Given the description of an element on the screen output the (x, y) to click on. 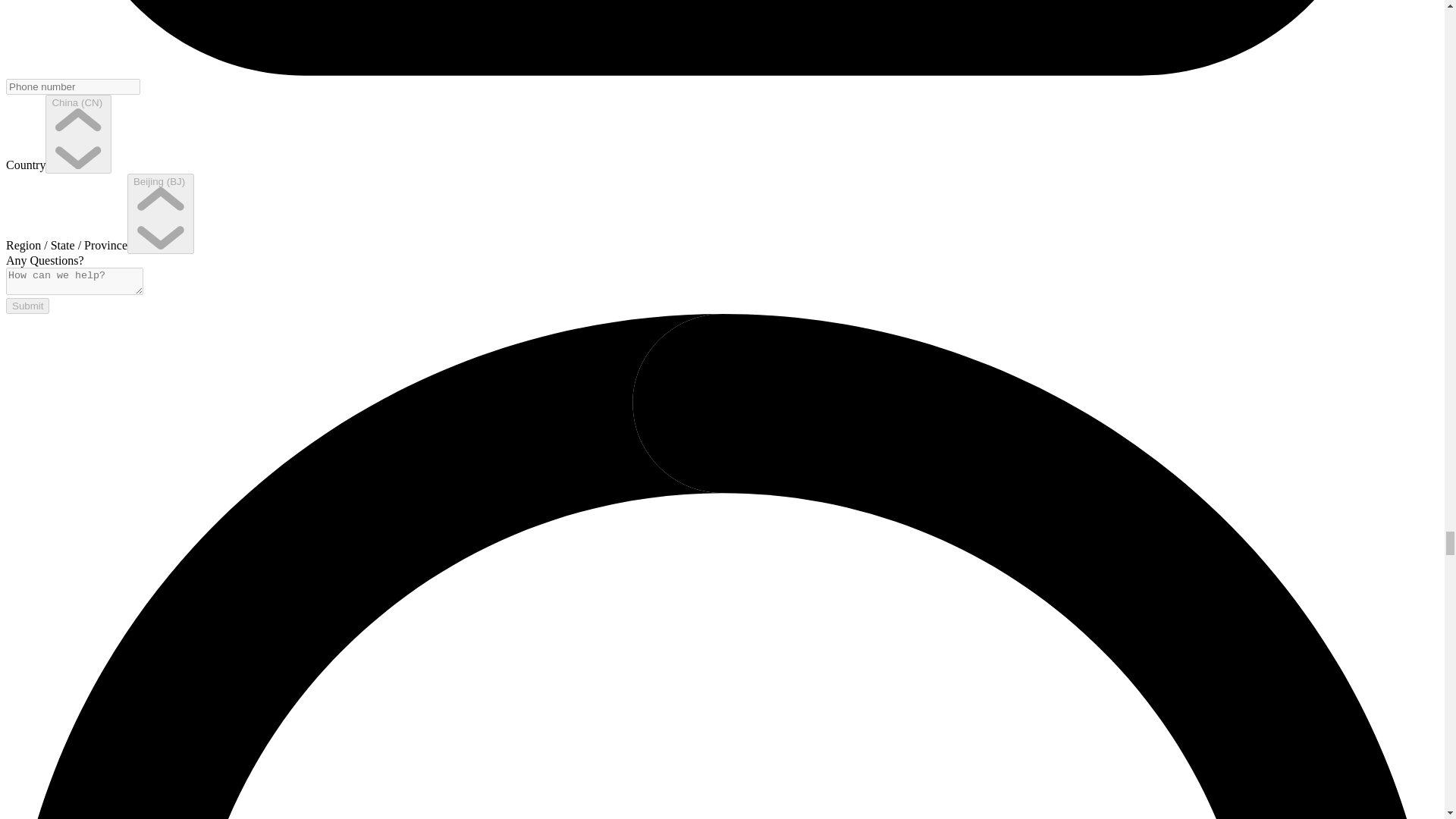
Submit (27, 305)
